Given the description of an element on the screen output the (x, y) to click on. 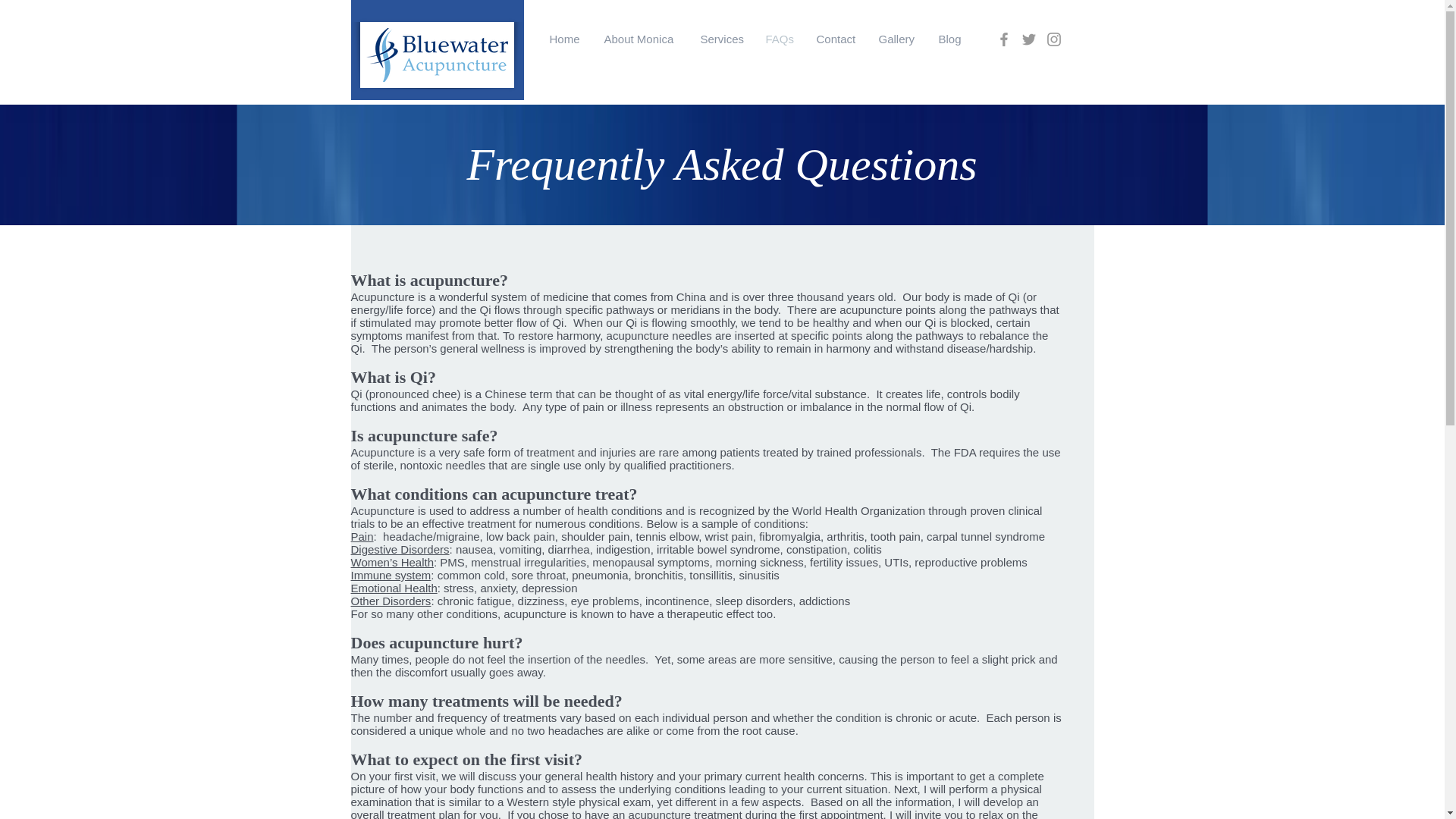
Contact (836, 38)
FAQs (779, 38)
Bluewater Acupuncture (609, 136)
Blog (949, 38)
Gallery (897, 38)
About Monica (640, 38)
Home (565, 38)
Services (721, 38)
